Given the description of an element on the screen output the (x, y) to click on. 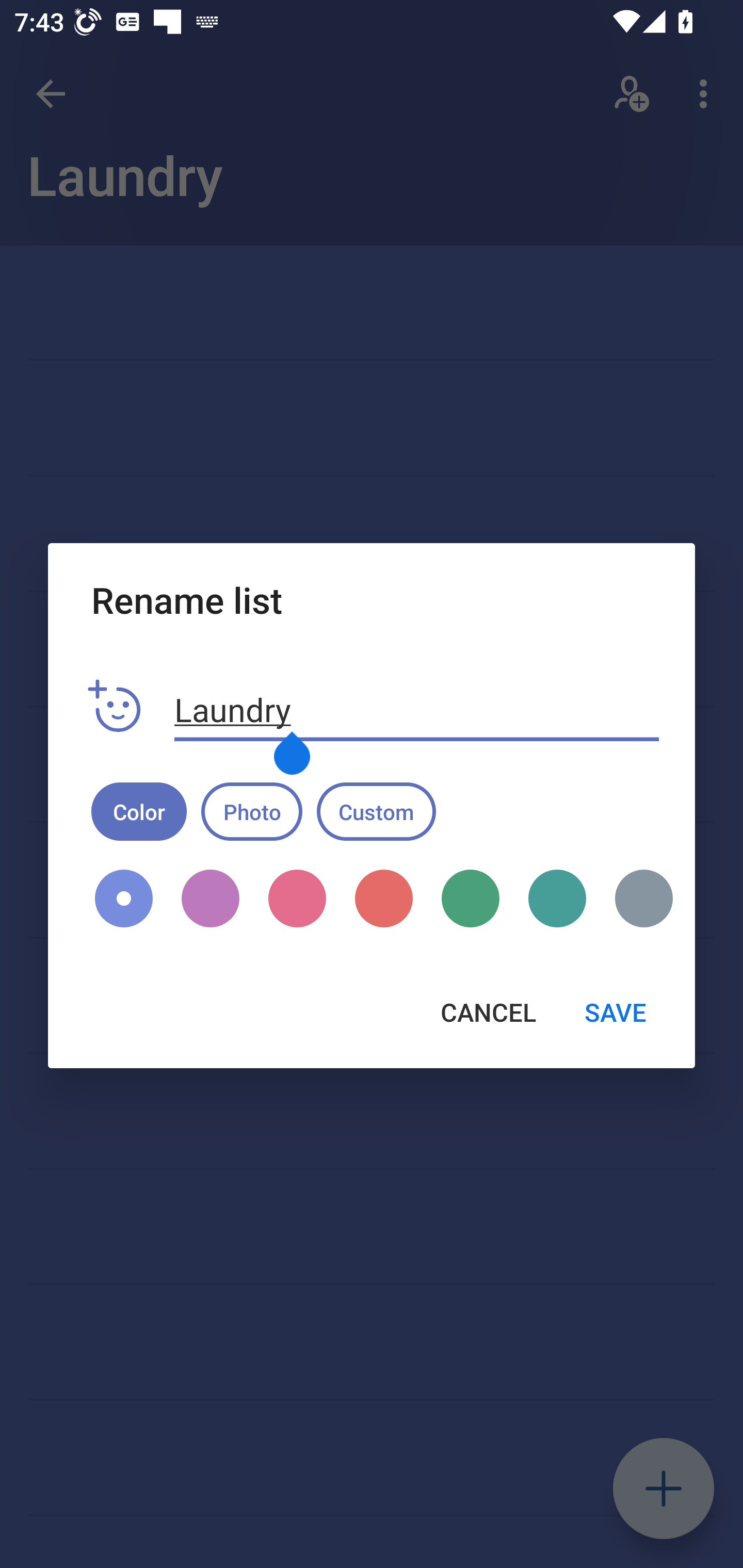
Set Emoji (114, 706)
Laundry (416, 710)
Color Color category (138, 811)
Photo Photo category (251, 811)
Custom Custom category (376, 811)
Selected, Dark blue (123, 898)
Dark purple (210, 898)
Dark rose (297, 898)
Dark red (383, 898)
Dark green (470, 898)
Dark teal (557, 898)
Dark grey (636, 898)
CANCEL (488, 1011)
SAVE (615, 1011)
